Given the description of an element on the screen output the (x, y) to click on. 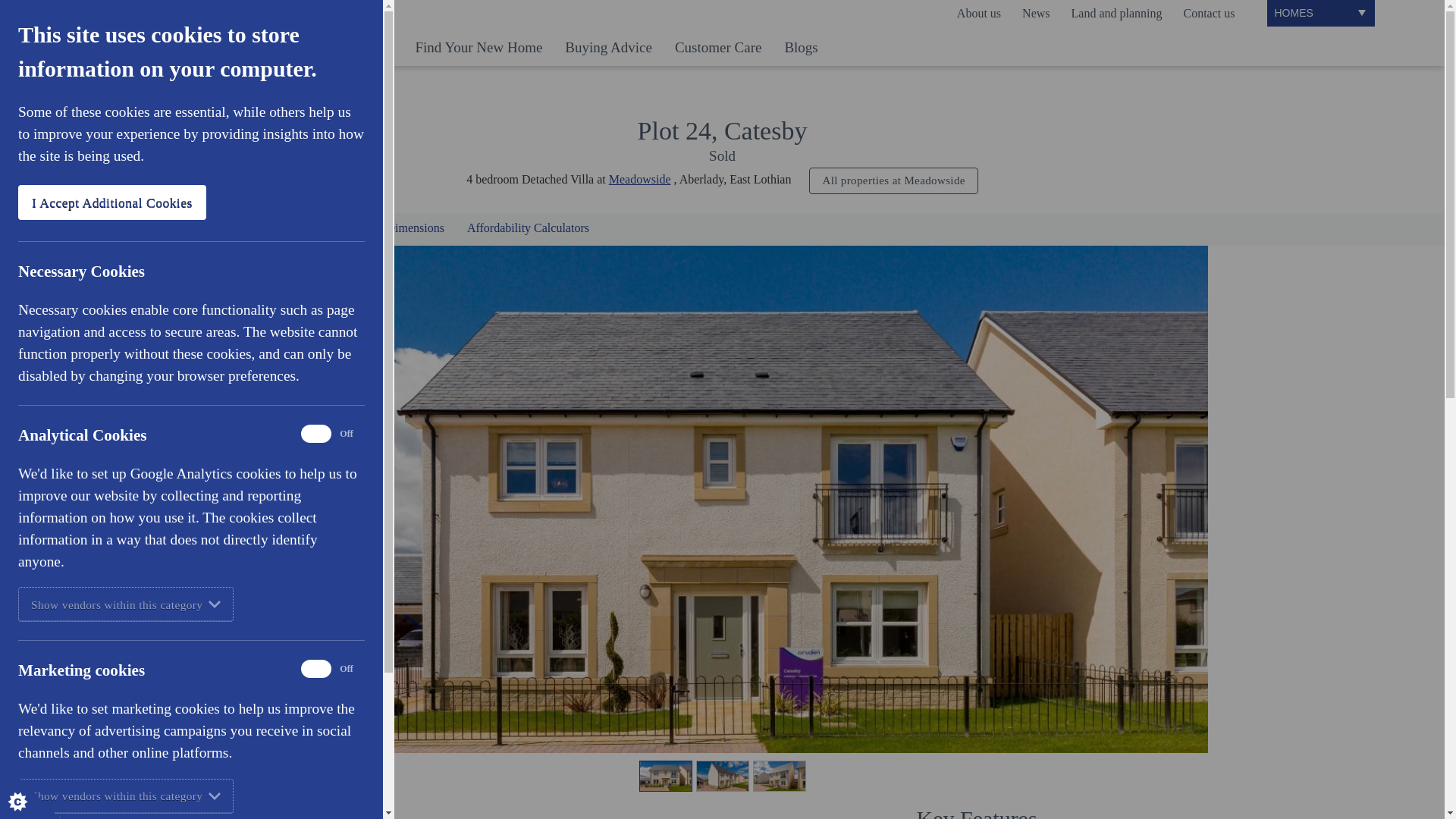
Cookie Control (30, 788)
News (1035, 13)
Buying Advice (608, 51)
HOMES (1320, 12)
Find Your New Home (478, 51)
Contact us (1208, 13)
Blogs (800, 51)
Customer Care (718, 51)
About us (978, 13)
Land and planning (1117, 13)
